Given the description of an element on the screen output the (x, y) to click on. 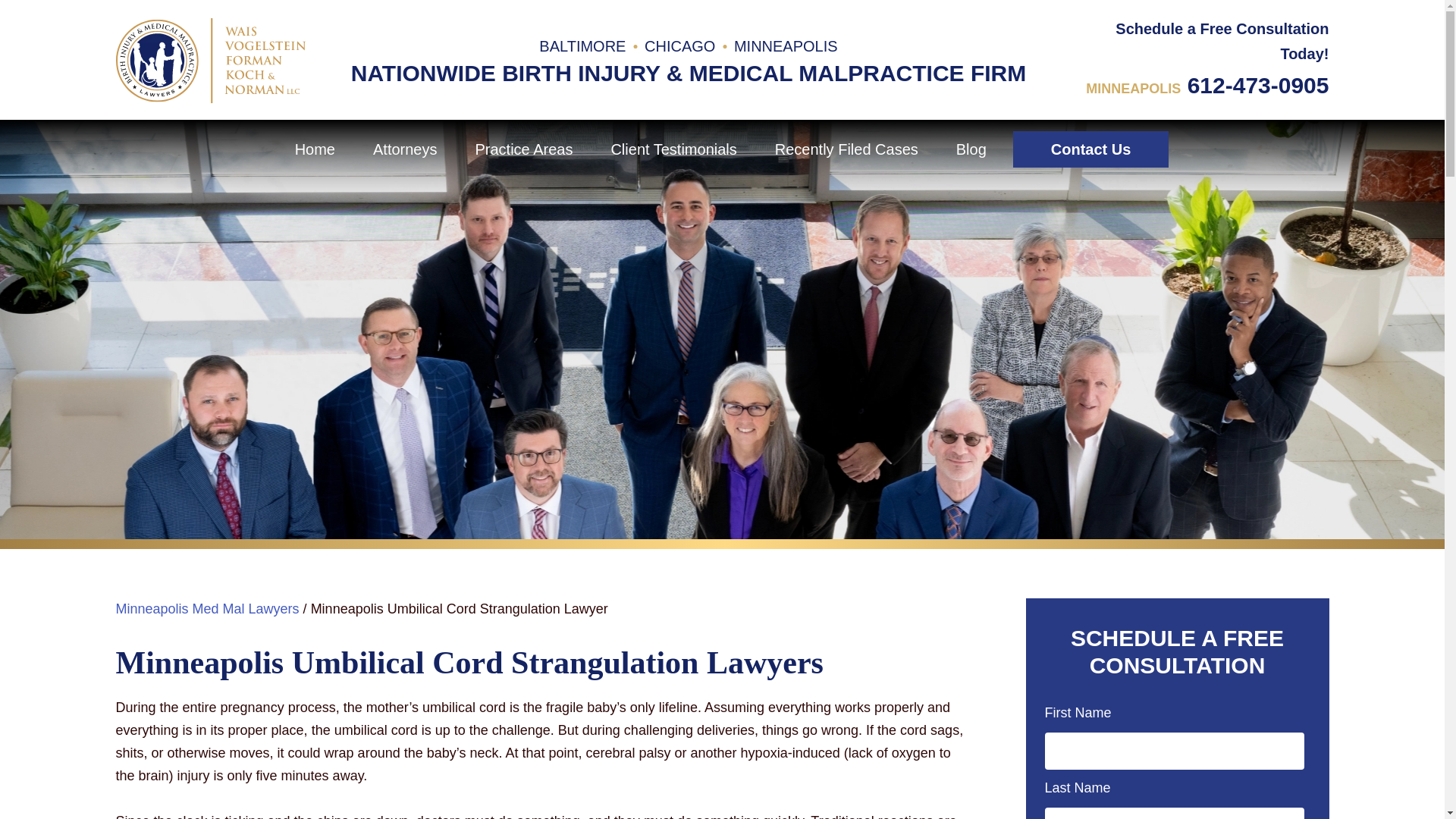
Home (314, 149)
Attorneys (404, 149)
Practice Areas (523, 149)
612-473-0905 (1258, 84)
